Given the description of an element on the screen output the (x, y) to click on. 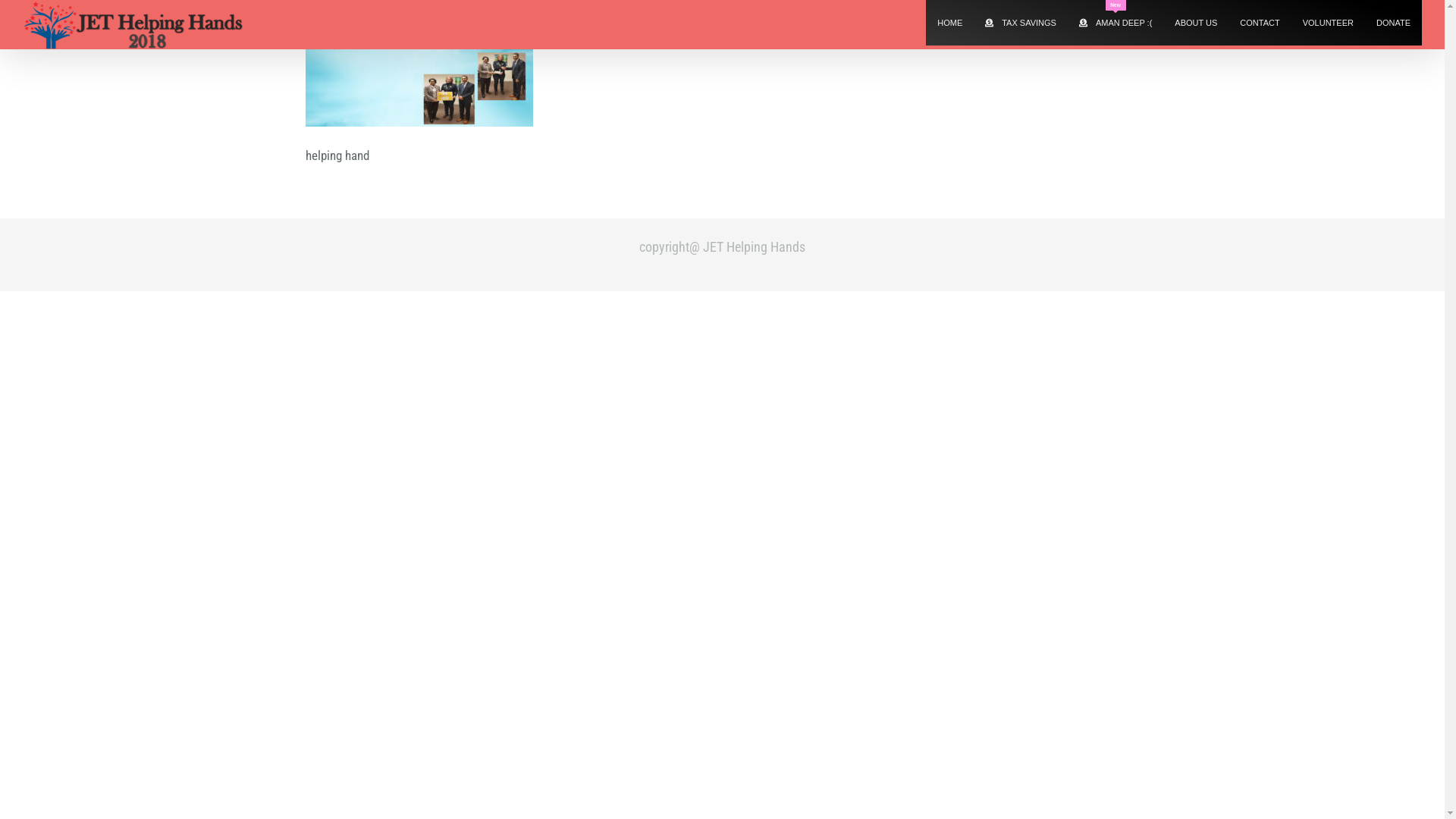
CONTACT Element type: text (1259, 22)
AMAN DEEP :(
New Element type: text (1115, 22)
TAX SAVINGS Element type: text (1020, 22)
VOLUNTEER Element type: text (1328, 22)
ABOUT US Element type: text (1195, 22)
HOME Element type: text (949, 22)
DONATE Element type: text (1393, 22)
